Given the description of an element on the screen output the (x, y) to click on. 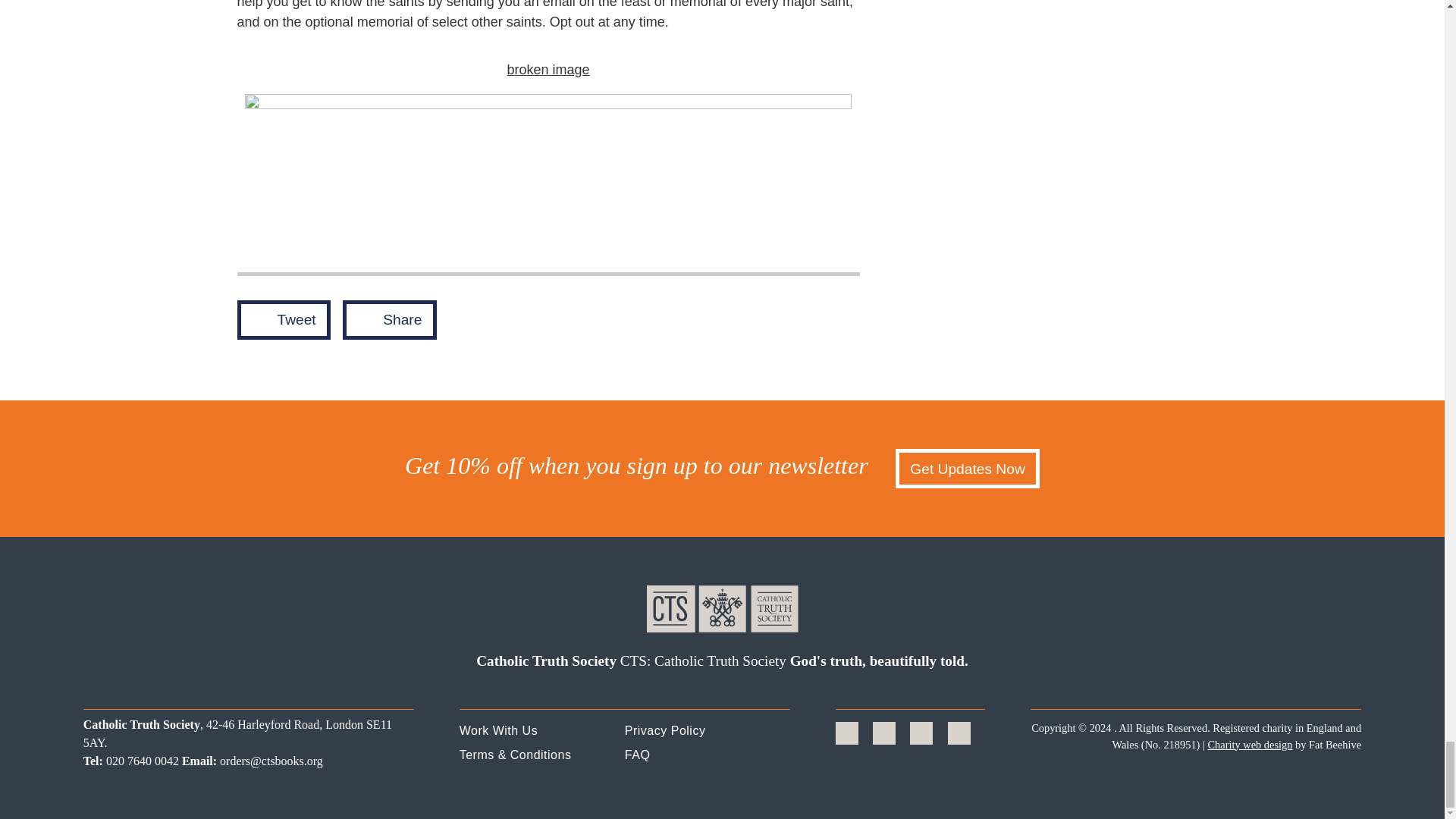
Facebook (847, 732)
Twitter (884, 732)
Instagram (921, 732)
Youtube (959, 732)
